Given the description of an element on the screen output the (x, y) to click on. 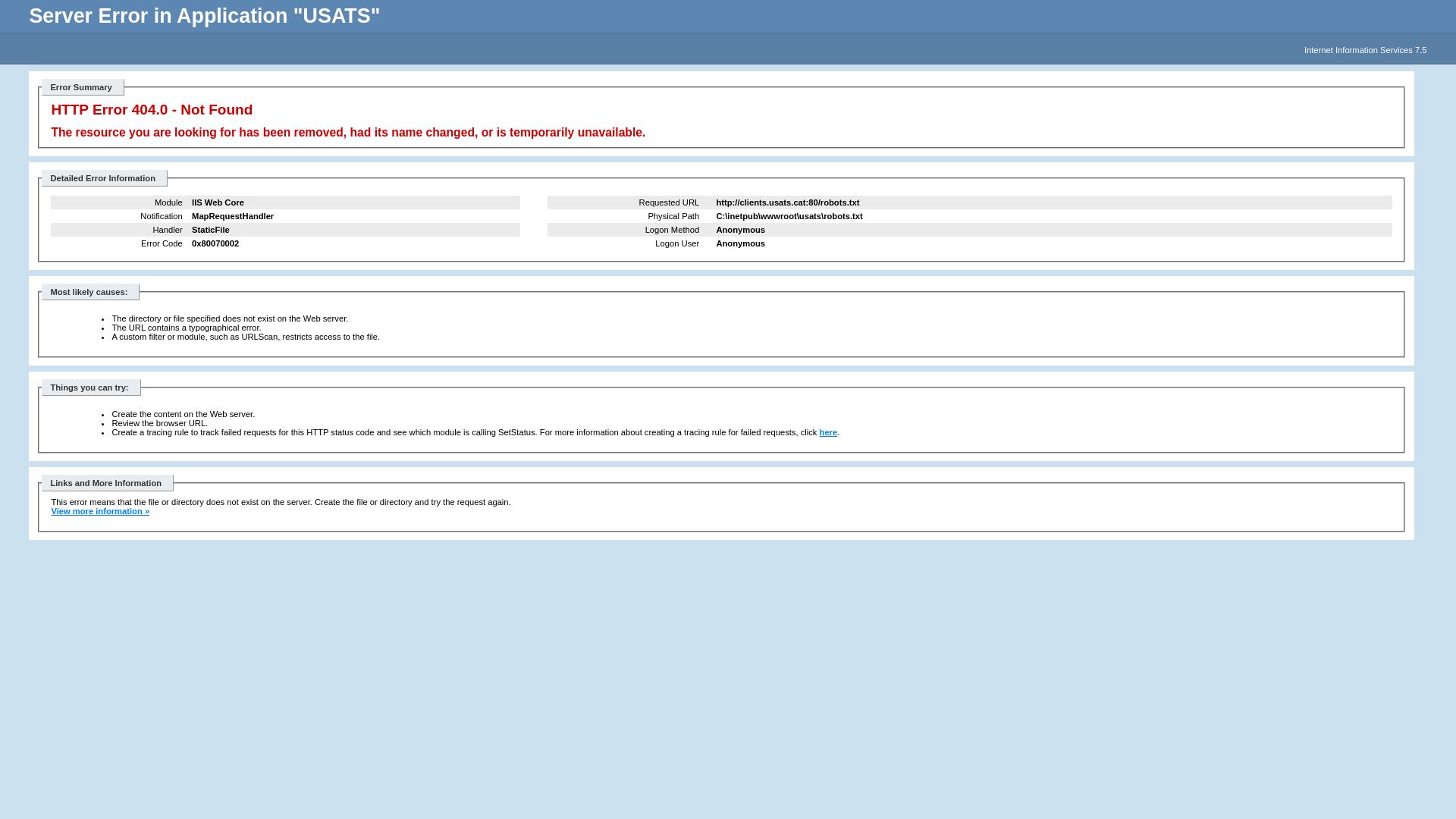
here Element type: text (828, 431)
